Given the description of an element on the screen output the (x, y) to click on. 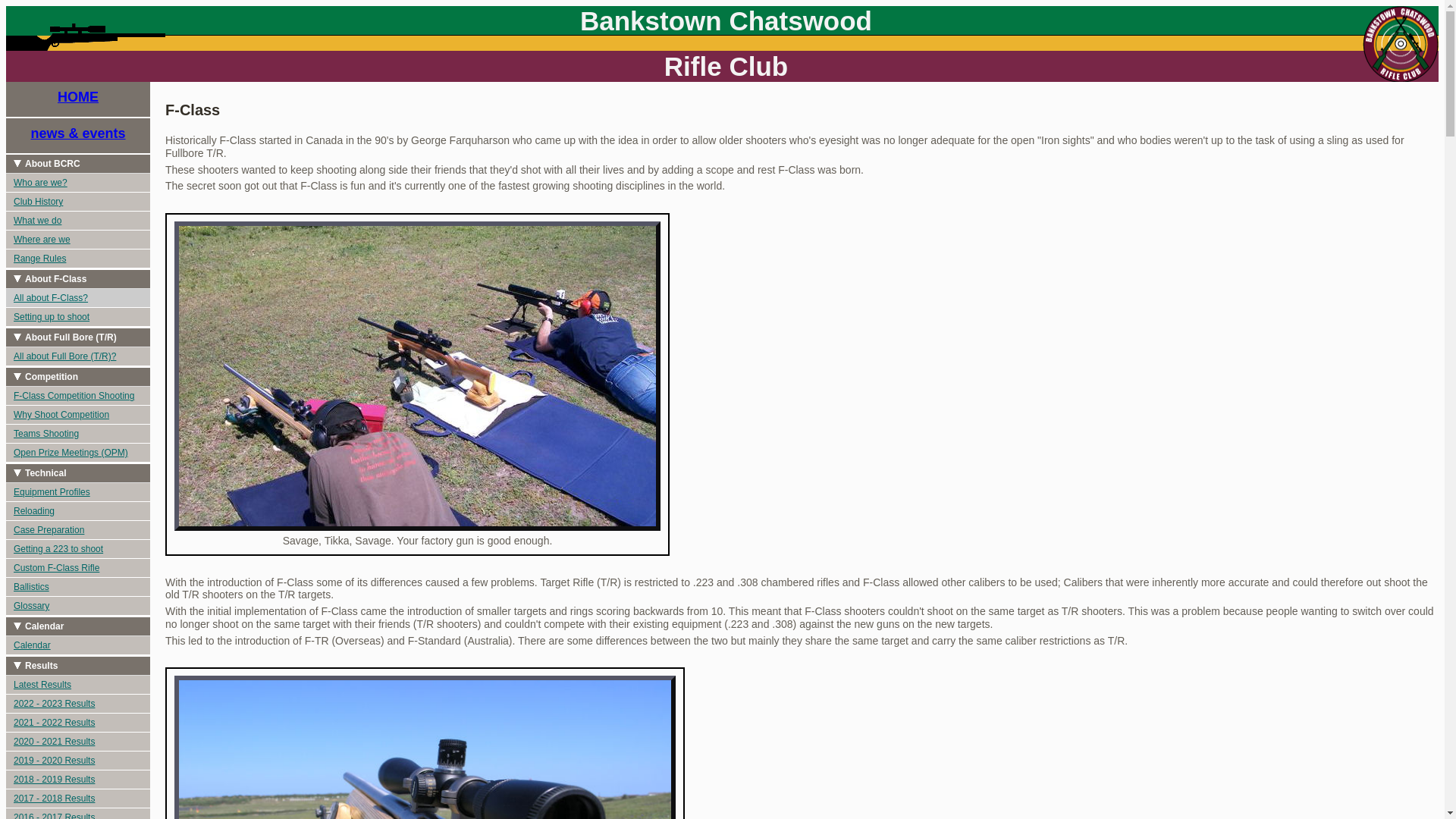
What we do Element type: text (78, 220)
Where are we Element type: text (78, 239)
Who are we? Element type: text (78, 182)
Teams Shooting Element type: text (78, 433)
All about F-Class? Element type: text (78, 297)
Why Shoot Competition Element type: text (78, 414)
2021 - 2022 Results Element type: text (78, 722)
Ballistics Element type: text (78, 586)
Glossary Element type: text (78, 605)
2018 - 2019 Results Element type: text (78, 779)
Equipment Profiles Element type: text (78, 492)
Open Prize Meetings (OPM) Element type: text (78, 452)
Calendar Element type: text (78, 645)
Club History Element type: text (78, 201)
HOME Element type: text (78, 99)
2019 - 2020 Results Element type: text (78, 760)
news & events Element type: text (78, 136)
Setting up to shoot Element type: text (78, 316)
Latest Results Element type: text (78, 684)
Range Rules Element type: text (78, 258)
Reloading Element type: text (78, 511)
F-Class Competition Shooting Element type: text (78, 395)
Getting a 223 to shoot Element type: text (78, 548)
Case Preparation Element type: text (78, 529)
2017 - 2018 Results Element type: text (78, 798)
Custom F-Class Rifle Element type: text (78, 567)
2020 - 2021 Results Element type: text (78, 741)
All about Full Bore (T/R)? Element type: text (78, 356)
2022 - 2023 Results Element type: text (78, 703)
